Given the description of an element on the screen output the (x, y) to click on. 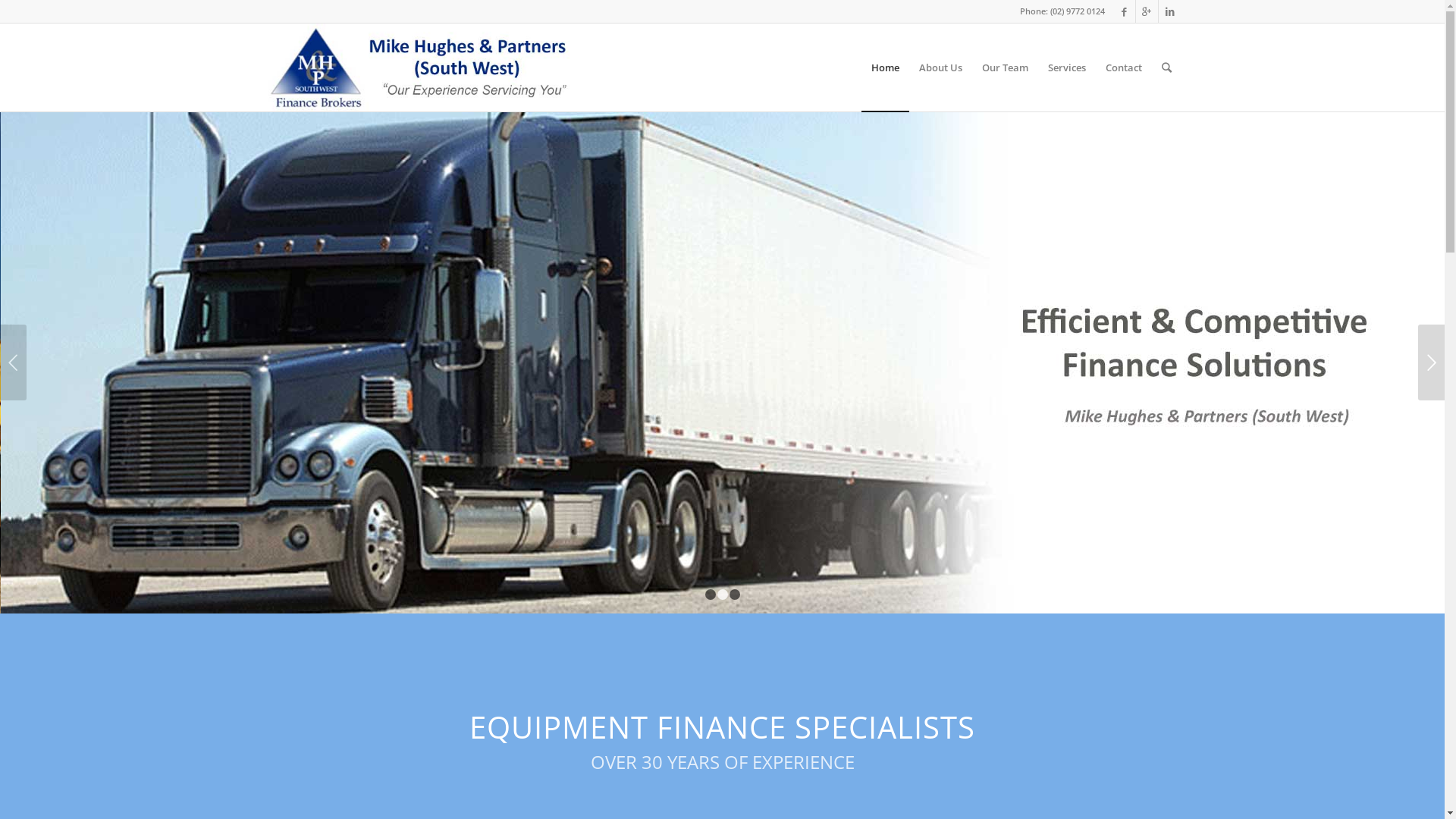
Our Team Element type: text (1005, 67)
1 Element type: text (710, 594)
Contact Element type: text (1123, 67)
Facebook Element type: hover (1124, 11)
equipment-finance Element type: hover (721, 362)
2 Element type: text (722, 594)
Home Element type: text (885, 67)
Services Element type: text (1066, 67)
Previous Element type: text (13, 362)
About Us Element type: text (939, 67)
3 Element type: text (734, 594)
Gplus Element type: hover (1146, 11)
Next Element type: text (1431, 362)
Linkedin Element type: hover (1169, 11)
